Given the description of an element on the screen output the (x, y) to click on. 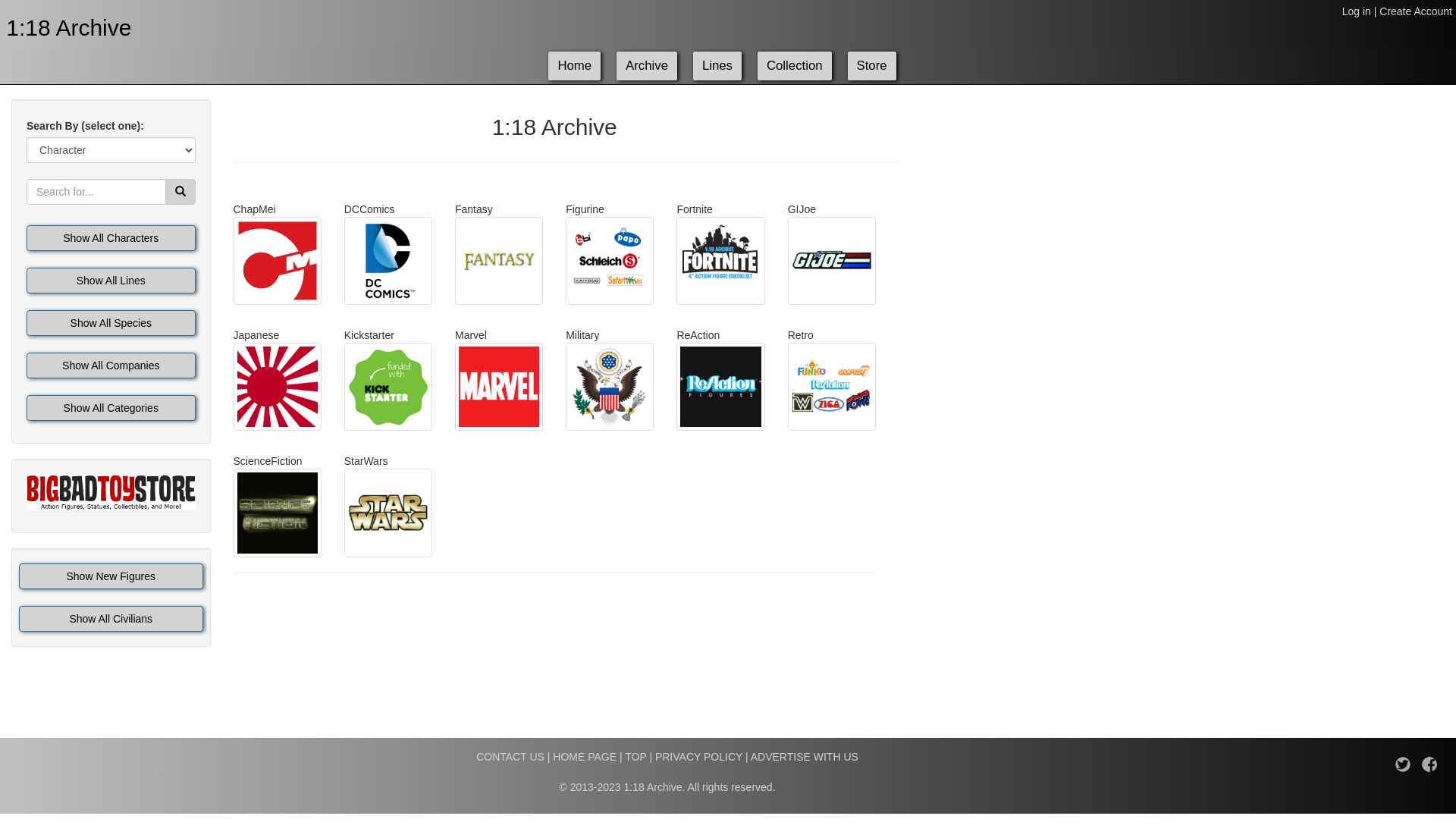
TOP Element type: text (635, 756)
Log in Element type: text (1356, 11)
CONTACT US Element type: text (510, 756)
Search Element type: text (180, 191)
HOME PAGE Element type: text (584, 756)
Show All Species Element type: text (110, 322)
Show All Companies Element type: text (110, 365)
Home Element type: text (574, 65)
PRIVACY POLICY Element type: text (698, 756)
Show All Characters Element type: text (110, 238)
Lines Element type: text (717, 65)
Show All Categories Element type: text (110, 407)
Search 1:18 Archive Element type: hover (180, 191)
Store Element type: text (871, 65)
Create Account Element type: text (1415, 11)
Show All Civilians Element type: text (110, 618)
Collection Element type: text (794, 65)
ADVERTISE WITH US Element type: text (804, 756)
Archive Element type: text (646, 65)
Show All Lines Element type: text (110, 280)
Show New Figures Element type: text (110, 576)
